Given the description of an element on the screen output the (x, y) to click on. 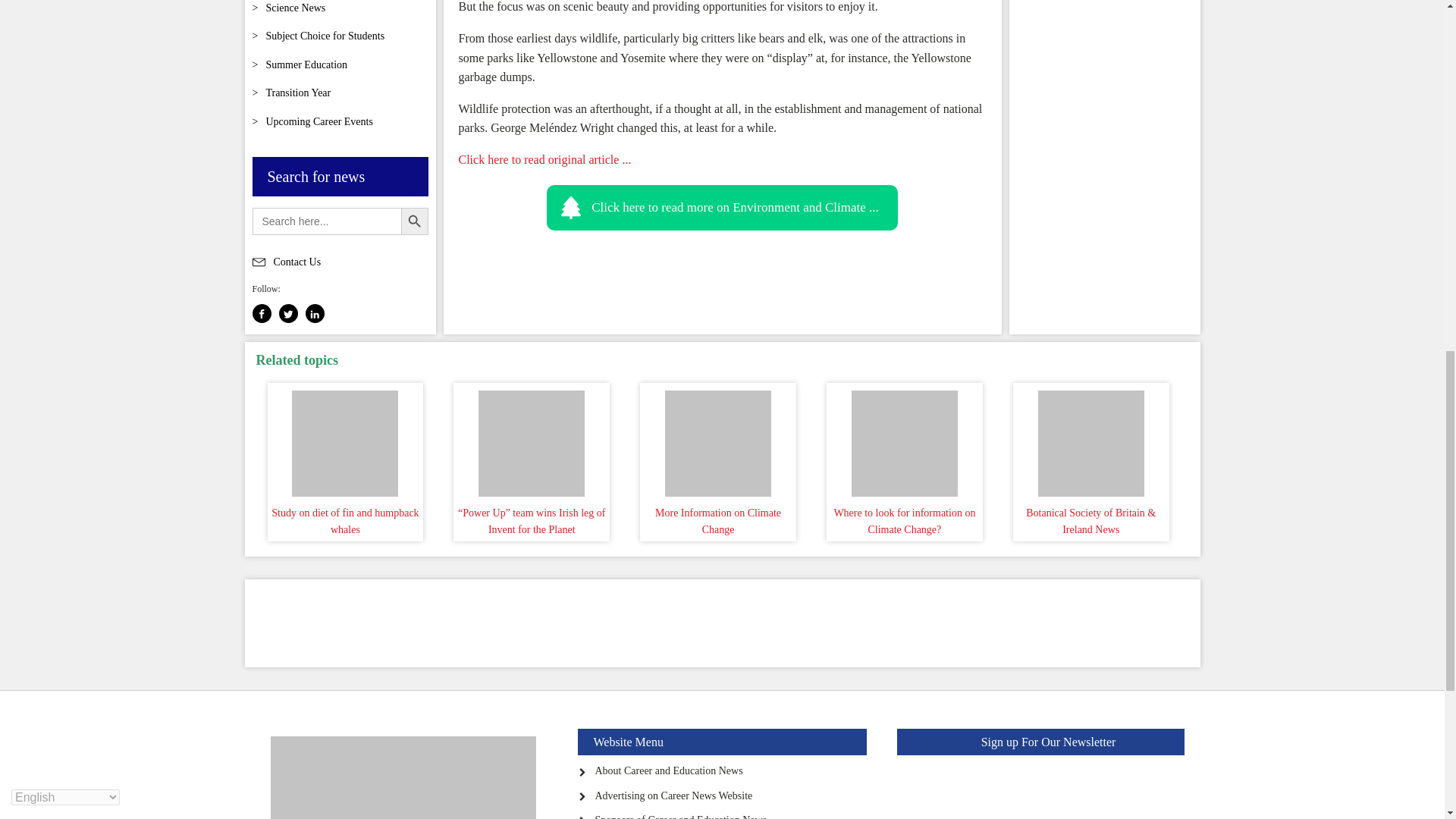
More Information on Climate Change (717, 439)
Where to look for information on Climate Change? (903, 439)
Study on diet of fin and humpback whales (345, 439)
